Given the description of an element on the screen output the (x, y) to click on. 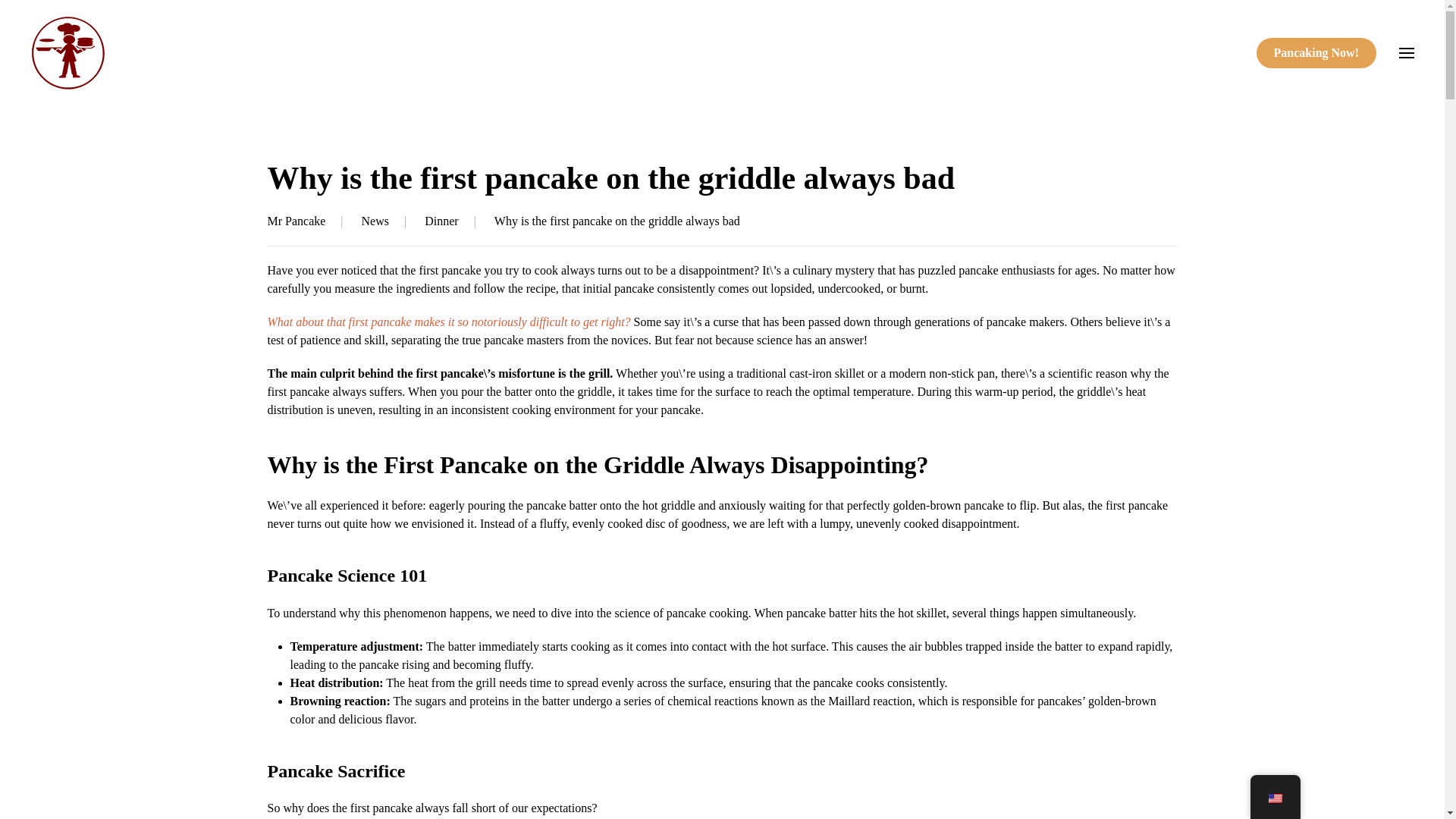
Mr Pancake (295, 220)
News (374, 220)
Pancaking Now! (1315, 52)
English (1274, 798)
Dinner (441, 220)
